Given the description of an element on the screen output the (x, y) to click on. 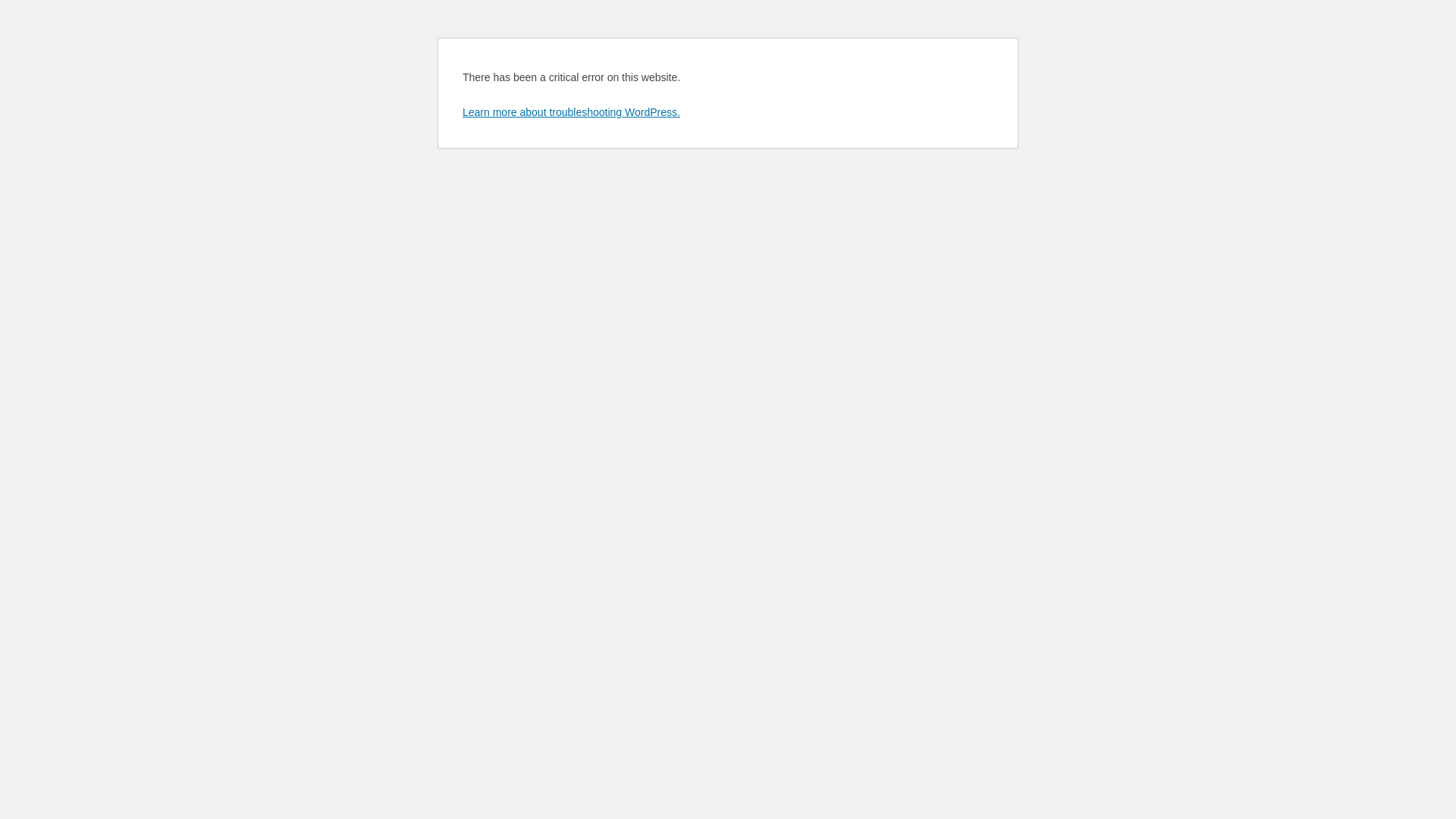
Learn more about troubleshooting WordPress. Element type: text (571, 112)
